Given the description of an element on the screen output the (x, y) to click on. 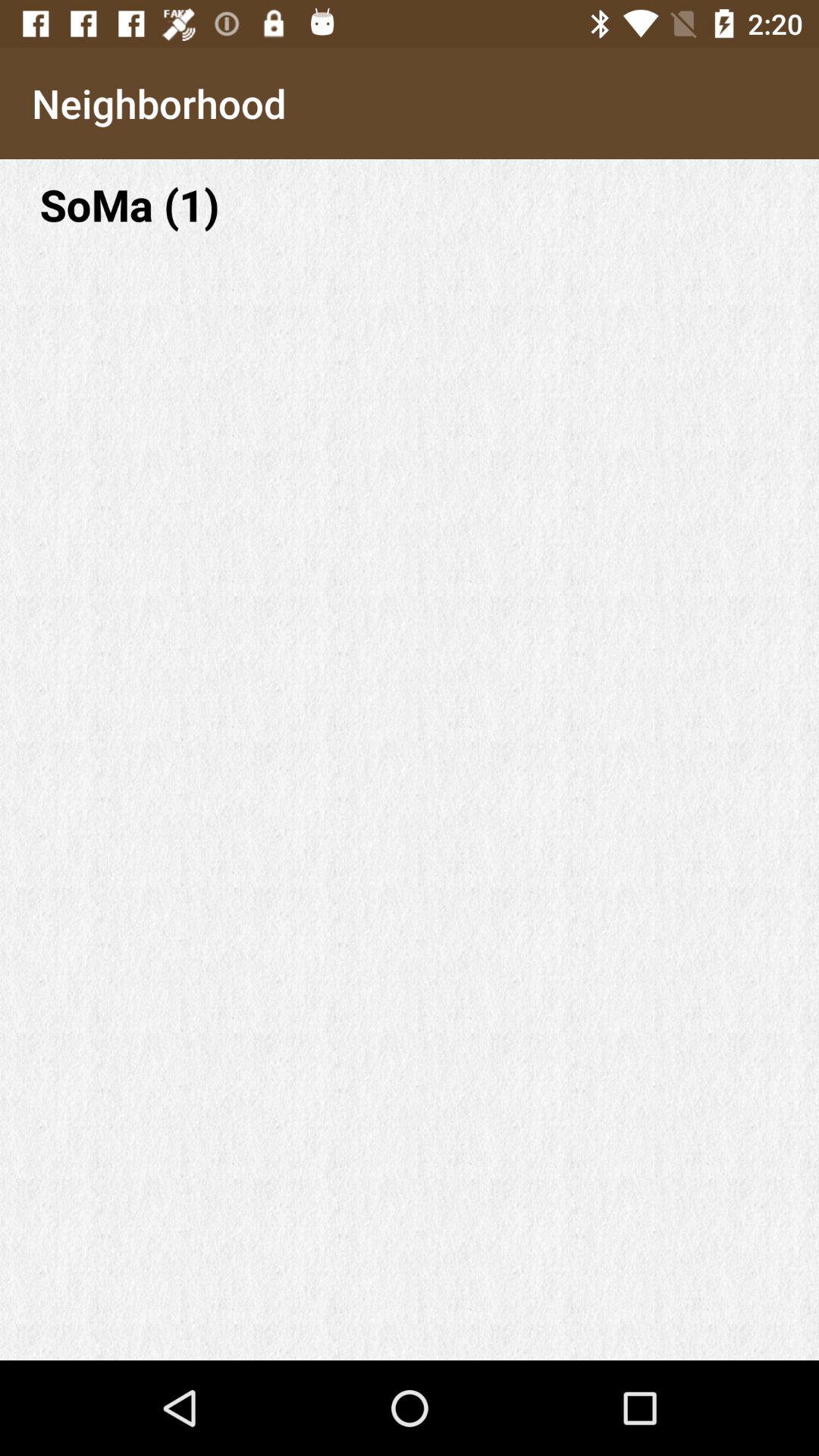
swipe to soma (1) item (409, 204)
